Given the description of an element on the screen output the (x, y) to click on. 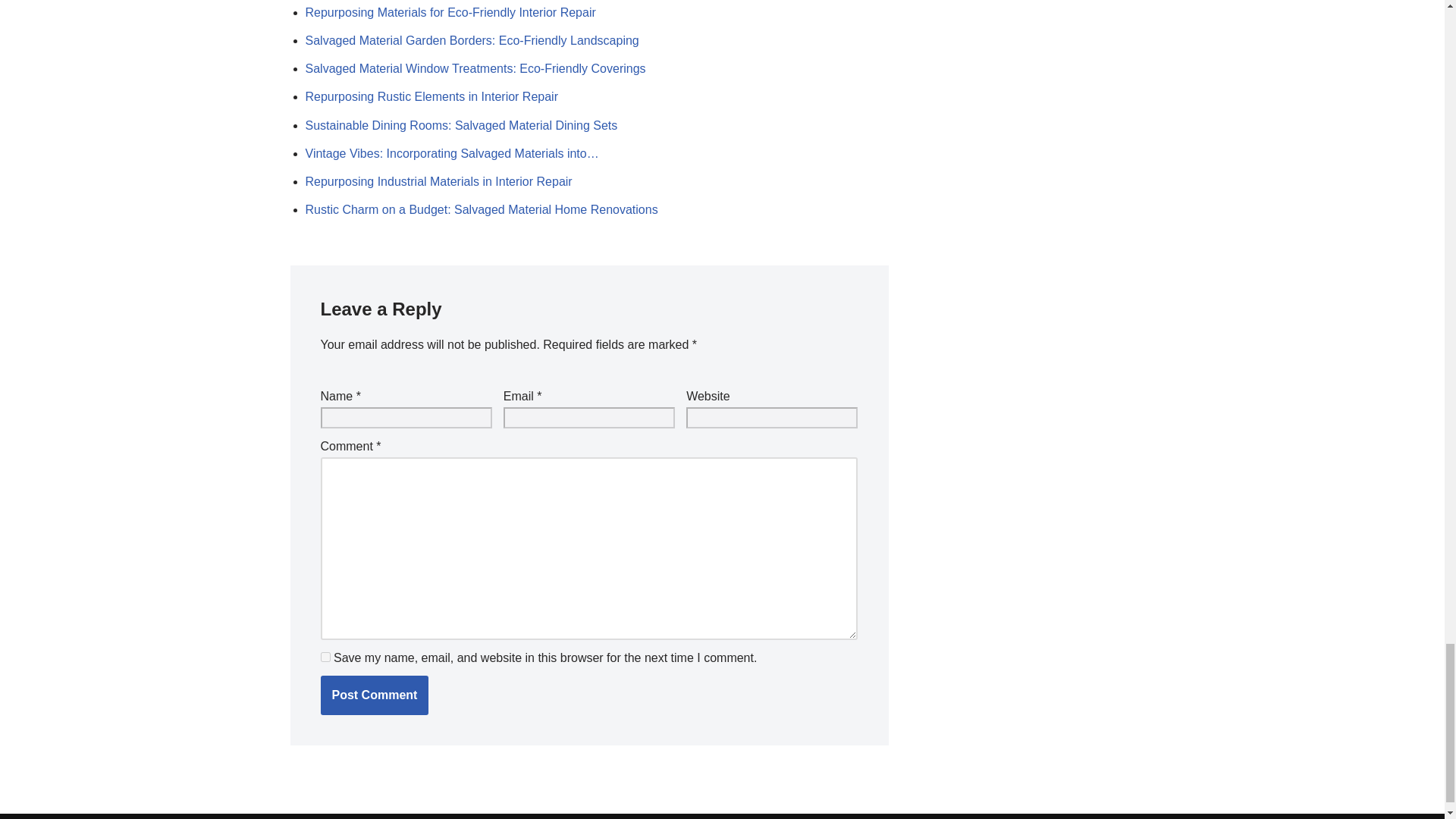
yes (325, 656)
Post Comment (374, 694)
